Given the description of an element on the screen output the (x, y) to click on. 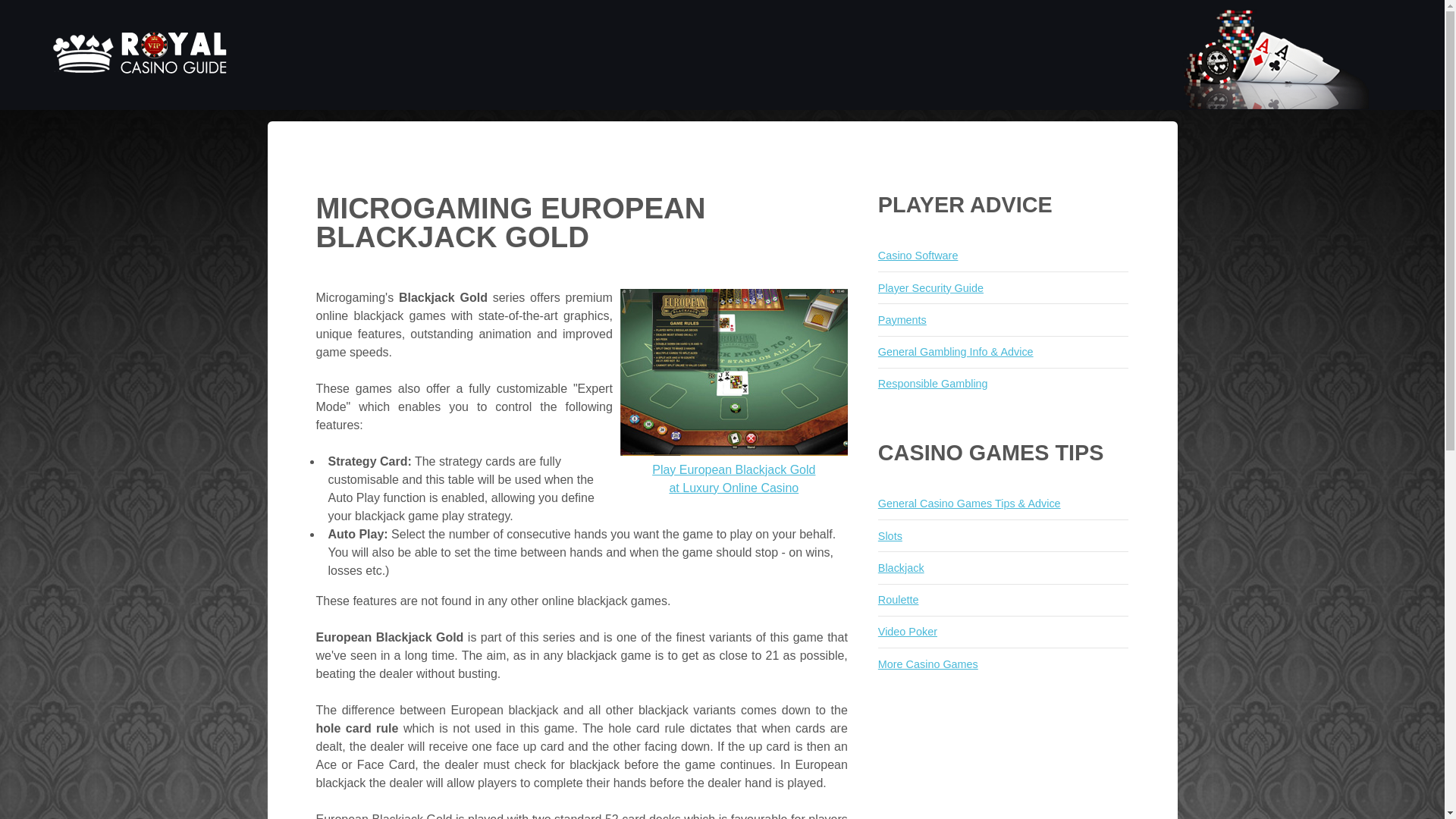
More Casino Games (927, 664)
More Casino Games (733, 469)
Payments (927, 664)
Responsible Gambling (901, 319)
Blackjack Guide (932, 383)
Casino Software (900, 567)
Video Poker (917, 255)
Roulette (907, 631)
Home (897, 599)
Blackjack (140, 88)
Video Poker (900, 567)
Roulette (907, 631)
Responsible Gambling (897, 599)
Slots (932, 383)
